Given the description of an element on the screen output the (x, y) to click on. 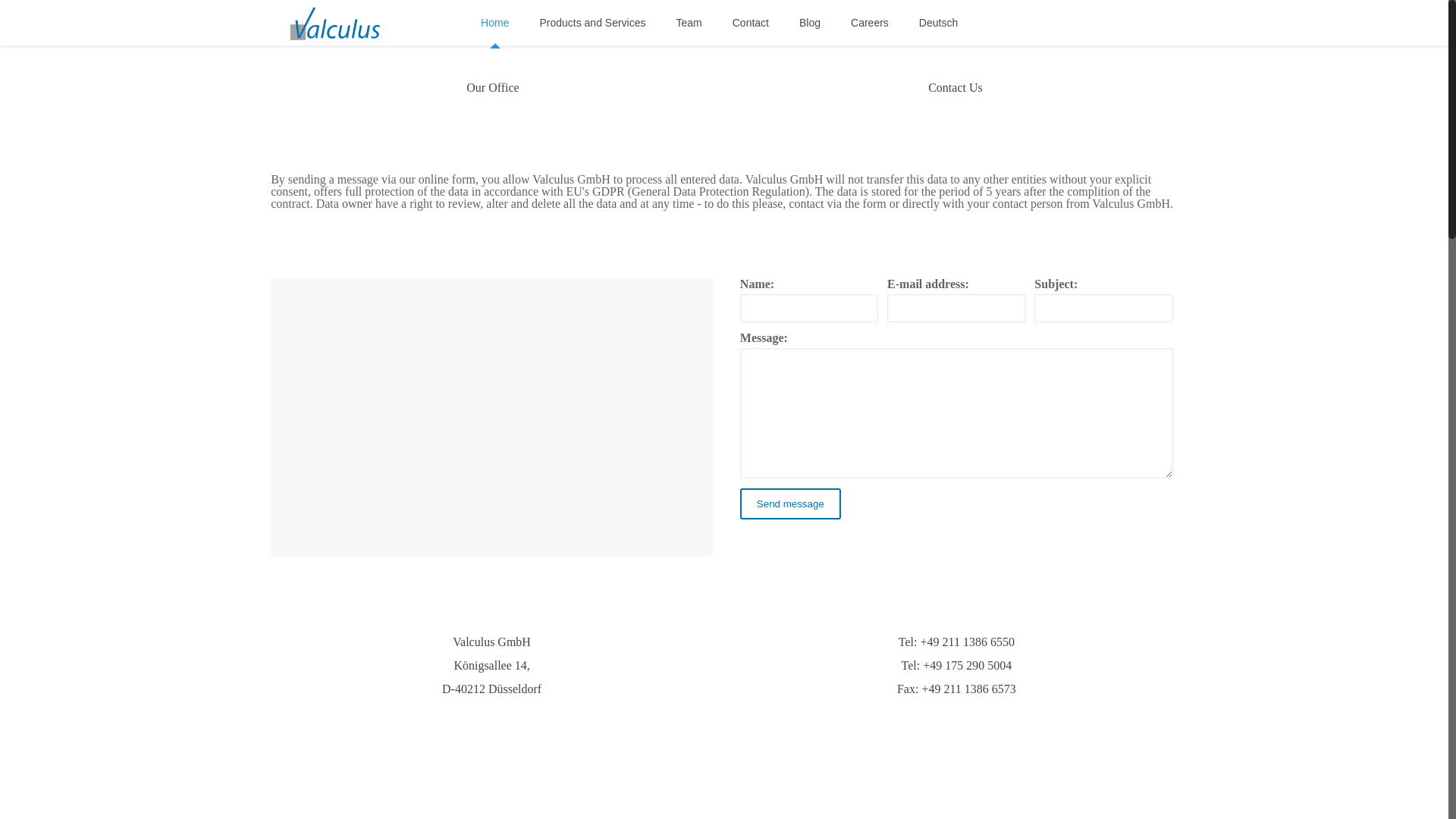
Send message (790, 503)
